Given the description of an element on the screen output the (x, y) to click on. 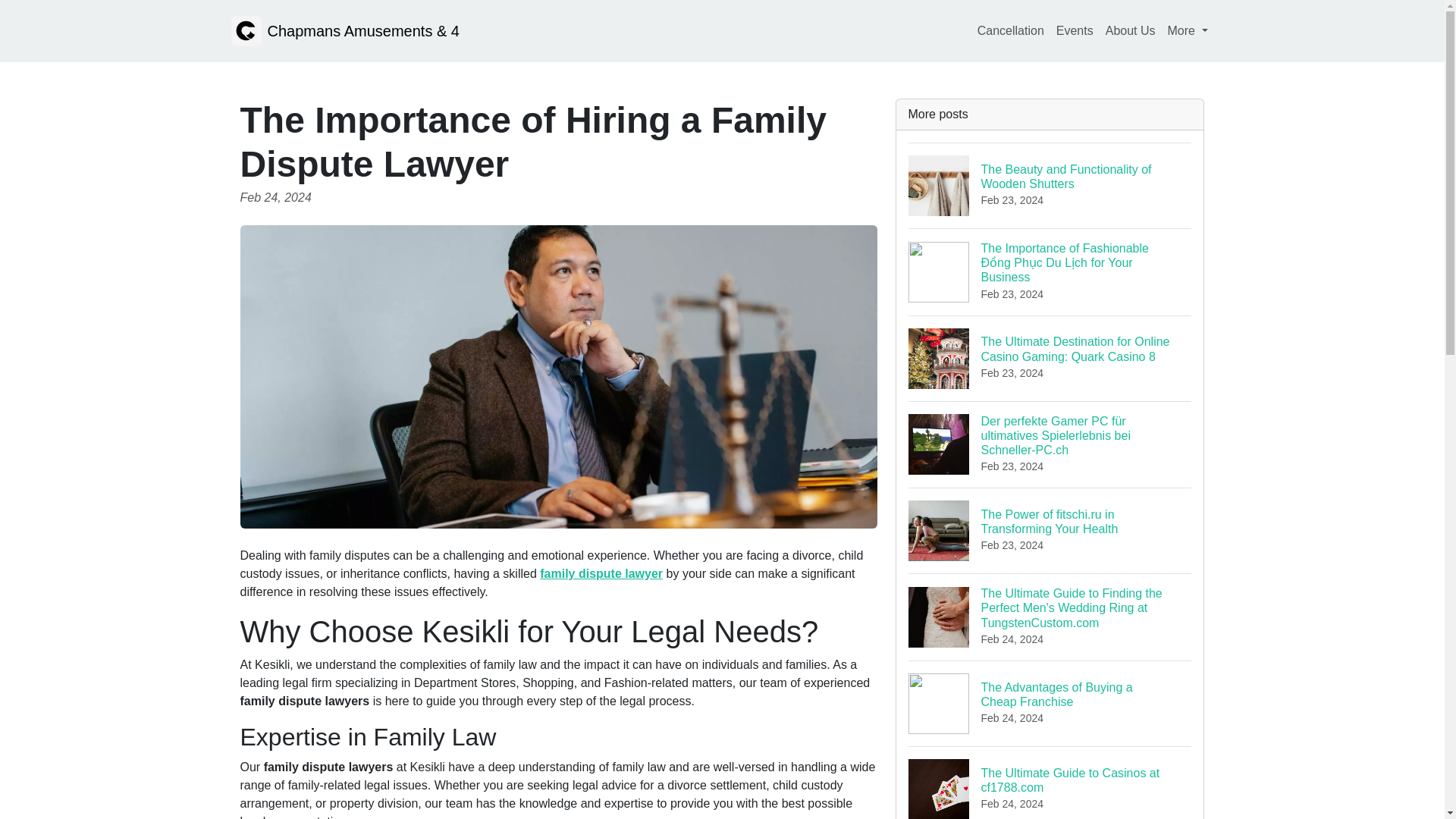
Cancellation (1010, 30)
Events (1050, 185)
About Us (1074, 30)
family dispute lawyer (1130, 30)
